Given the description of an element on the screen output the (x, y) to click on. 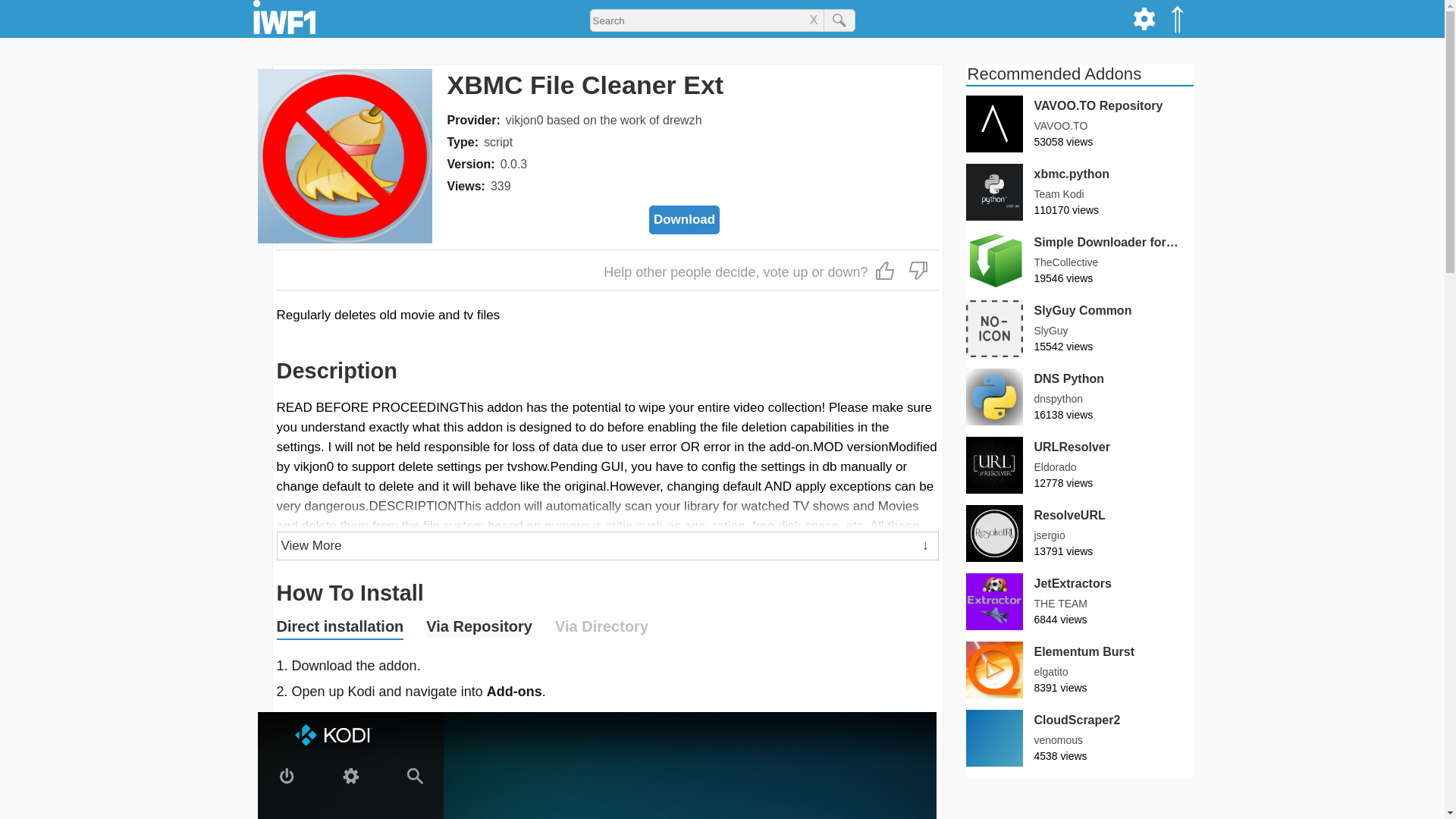
ResolveURL (1079, 533)
xbmc.python (1079, 191)
jsergio (1049, 535)
Team Kodi (1058, 194)
VAVOO.TO Repository (1079, 123)
Elementum Burst (1083, 651)
Like this addon? (885, 270)
DNS Python (1079, 396)
Eldorado (1055, 467)
URLResolver (1079, 464)
ResolveURL (1069, 515)
URLResolver (1071, 446)
venomous (1058, 740)
Dislike this addon? (918, 270)
vikjon0 based on the work of drewzh (603, 119)
